Given the description of an element on the screen output the (x, y) to click on. 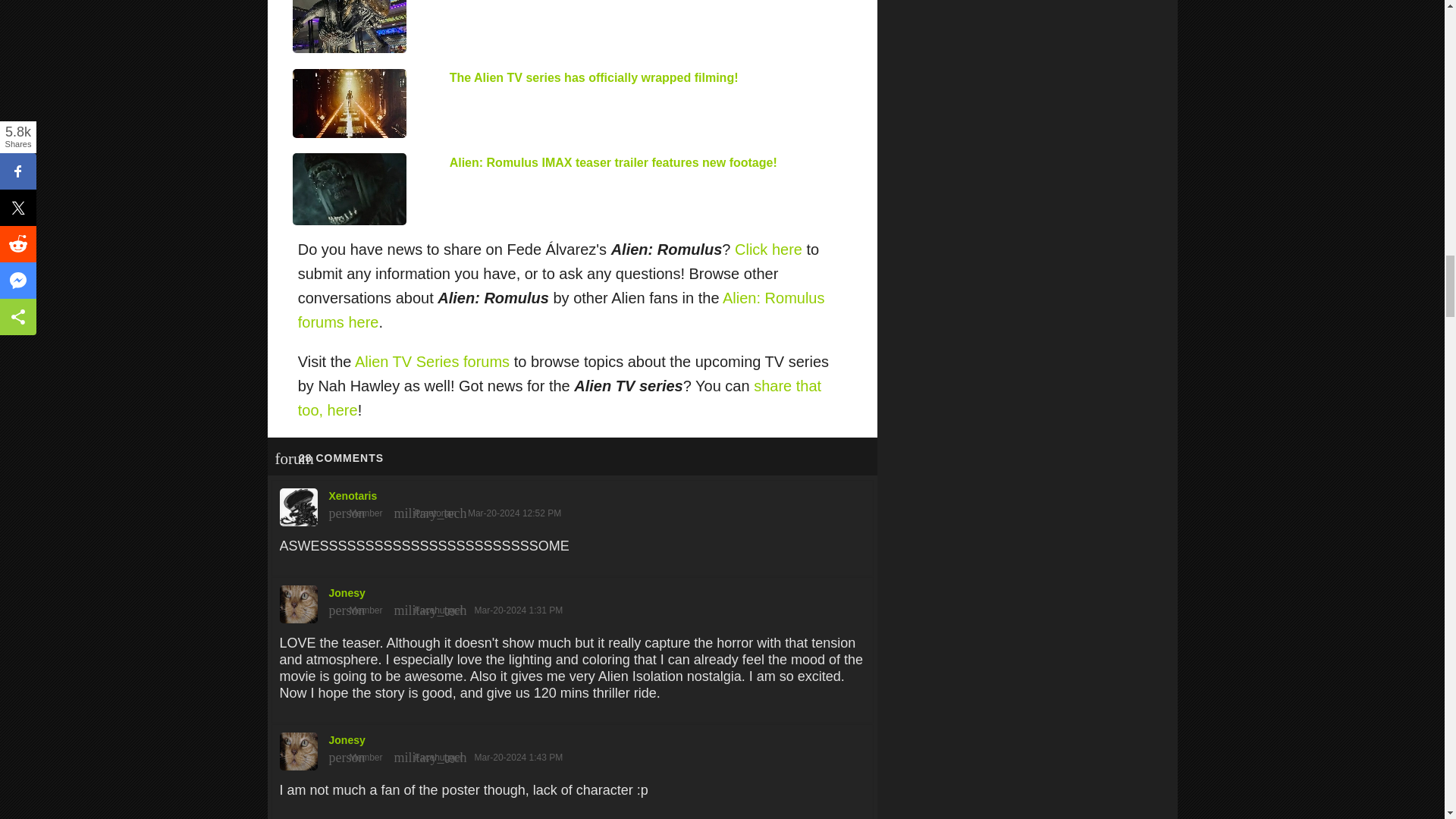
Alien TV Series forums (432, 361)
share that too, here (559, 397)
Life-size Scorched Xenomorph on display for Alien: Romulus! (349, 26)
Click here (768, 248)
The Alien TV series has officially wrapped filming! (593, 77)
Alien: Romulus IMAX teaser trailer features new footage! (613, 162)
Alien: Romulus forums here (561, 309)
